Given the description of an element on the screen output the (x, y) to click on. 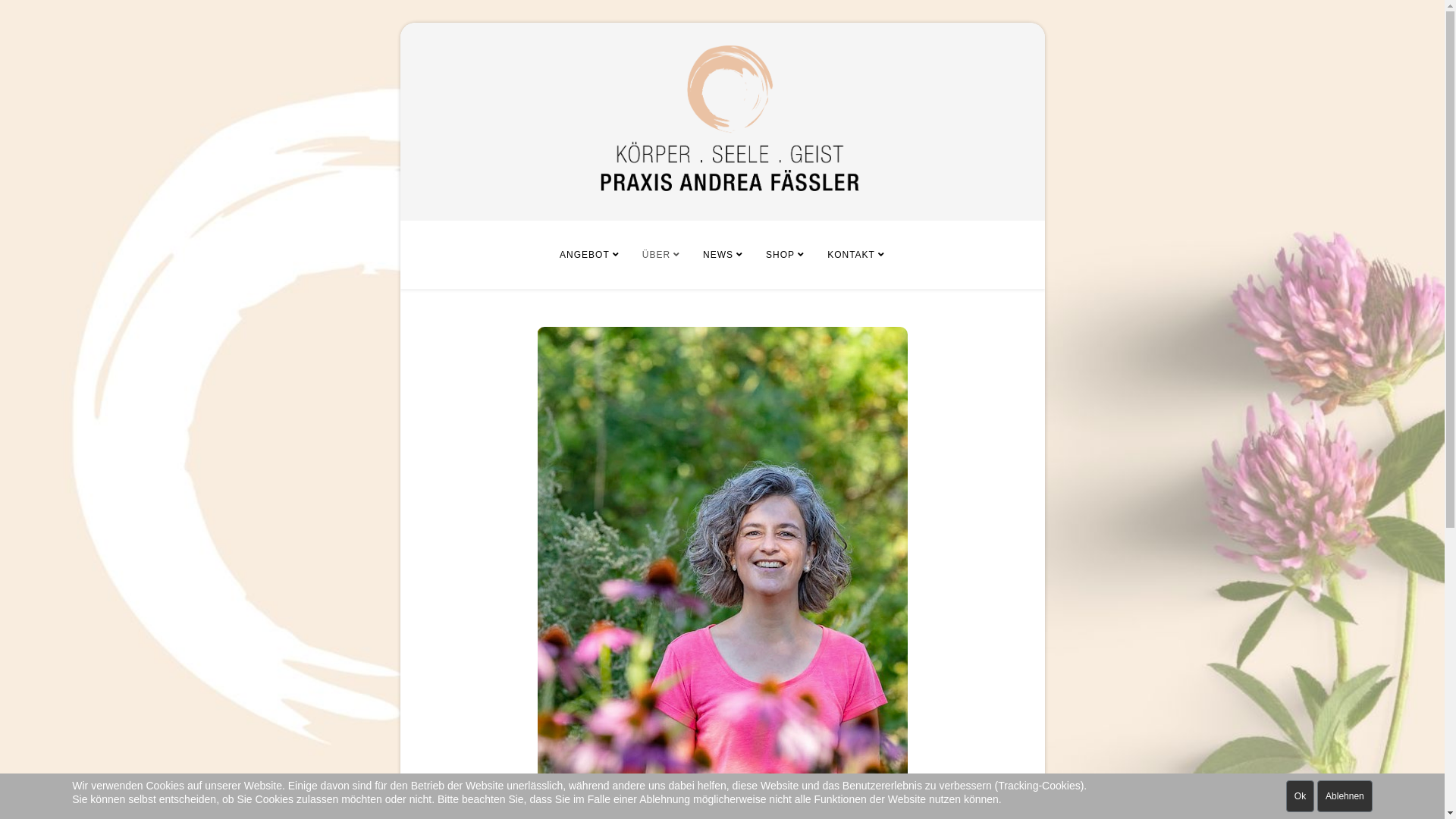
Ok Element type: text (1300, 796)
SHOP Element type: text (784, 254)
NEWS Element type: text (722, 254)
ANGEBOT Element type: text (589, 254)
KONTAKT Element type: text (855, 254)
Ablehnen Element type: text (1344, 796)
